Given the description of an element on the screen output the (x, y) to click on. 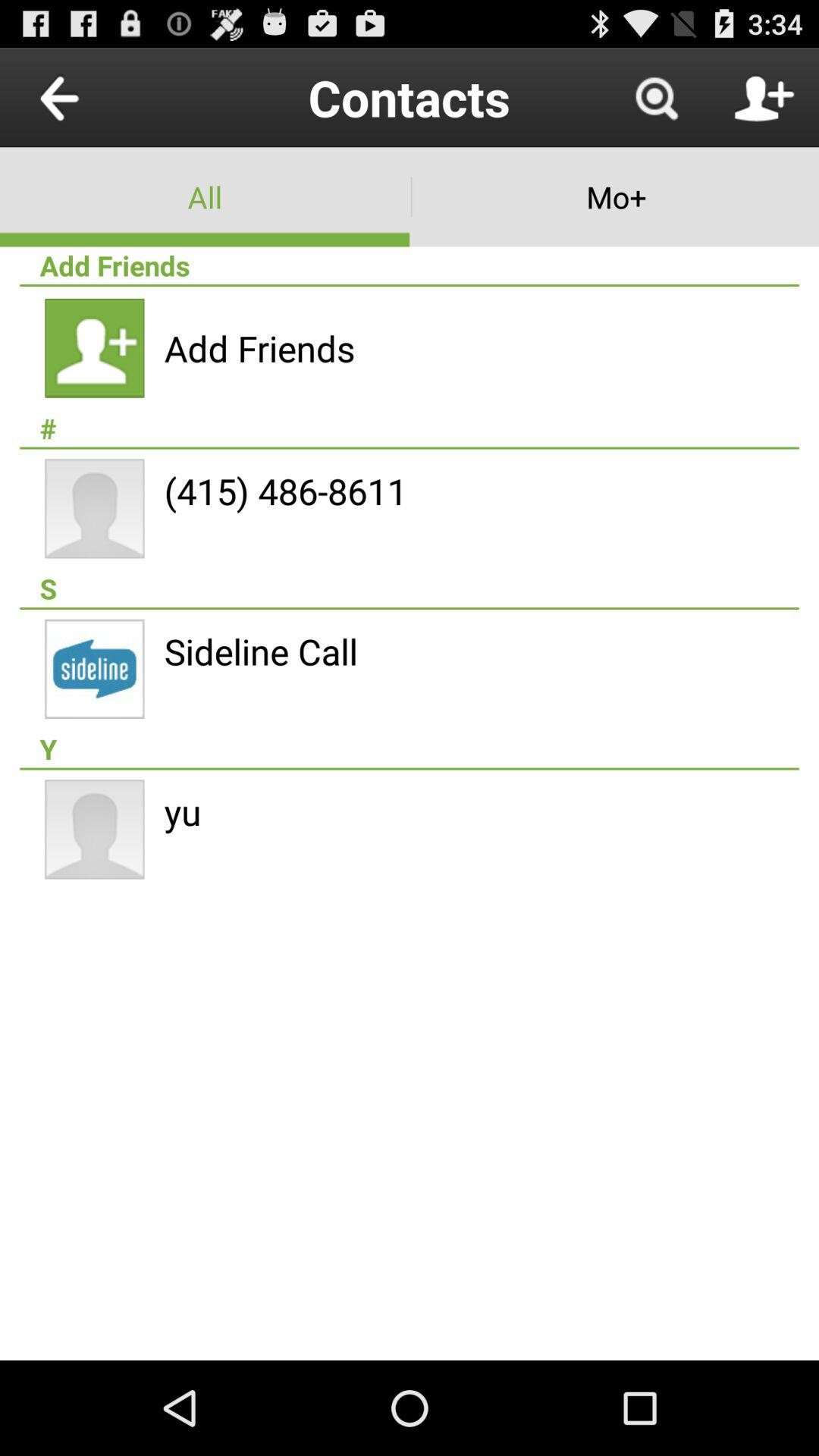
turn off yu item (182, 811)
